Given the description of an element on the screen output the (x, y) to click on. 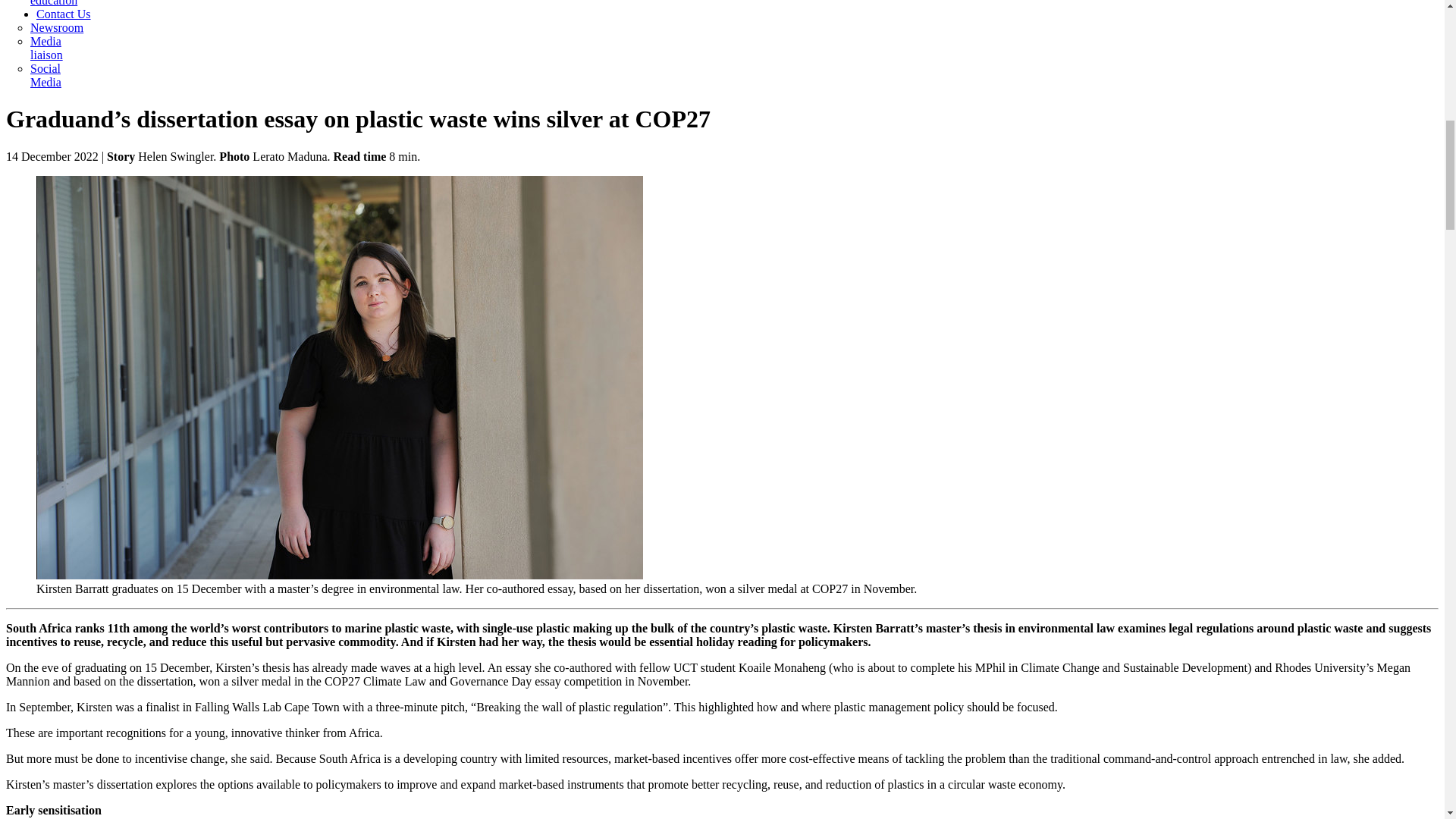
Debates in higher education (53, 3)
Media liaison (46, 48)
Social Media (45, 75)
Newsroom (56, 27)
Contact Us (63, 13)
